Given the description of an element on the screen output the (x, y) to click on. 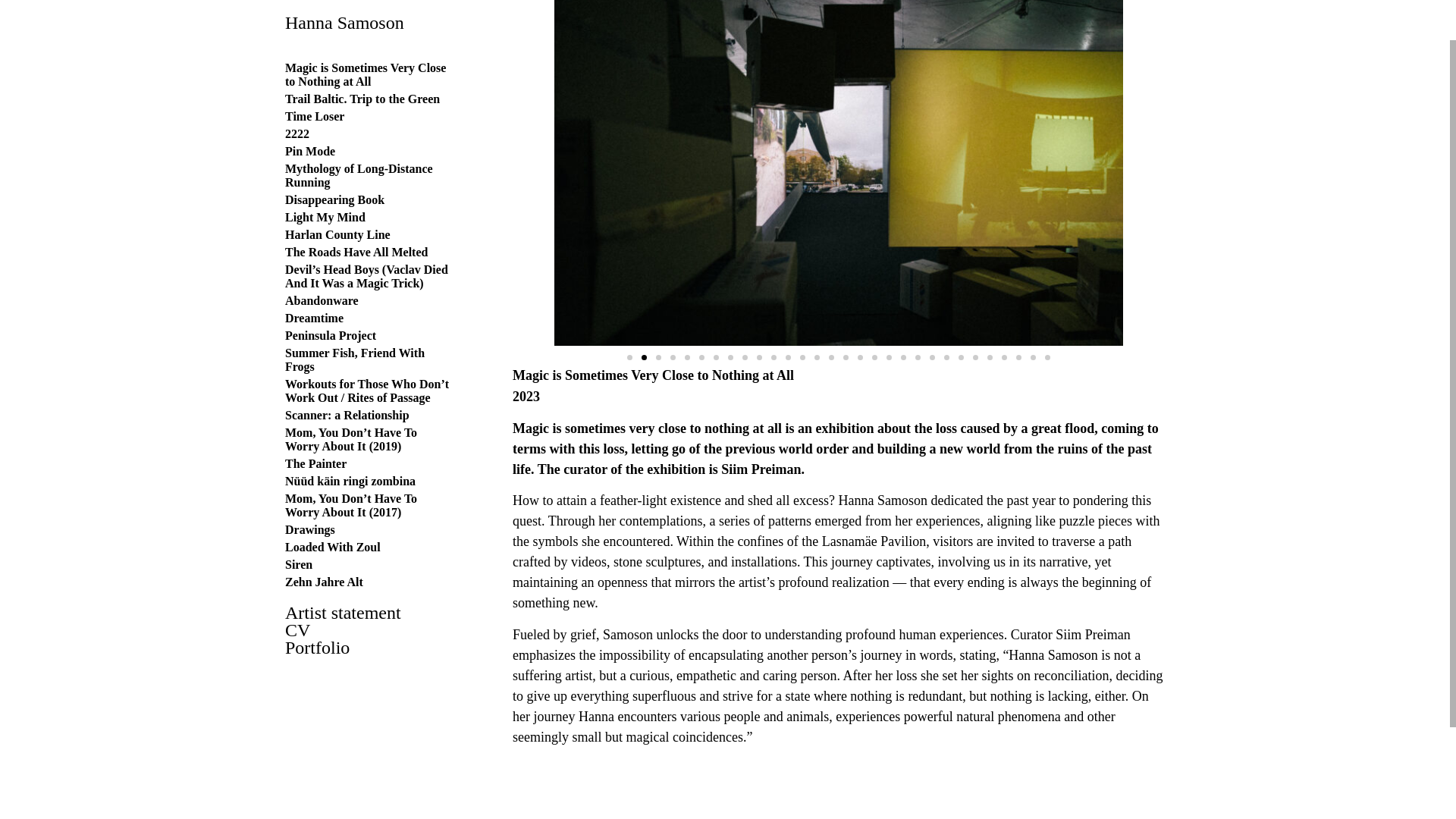
The Painter (315, 414)
Harlan County Line (337, 185)
Scanner: a Relationship (347, 366)
Mythology of Long-Distance Running (358, 126)
Pin Mode (309, 102)
Artist statement (368, 564)
Loaded With Zoul (332, 498)
2222 (296, 84)
Dreamtime (314, 269)
Peninsula Project (330, 286)
Siren (299, 515)
Disappearing Book (334, 151)
Portfolio (368, 599)
Time Loser (314, 67)
Summer Fish, Friend With Frogs (355, 311)
